Given the description of an element on the screen output the (x, y) to click on. 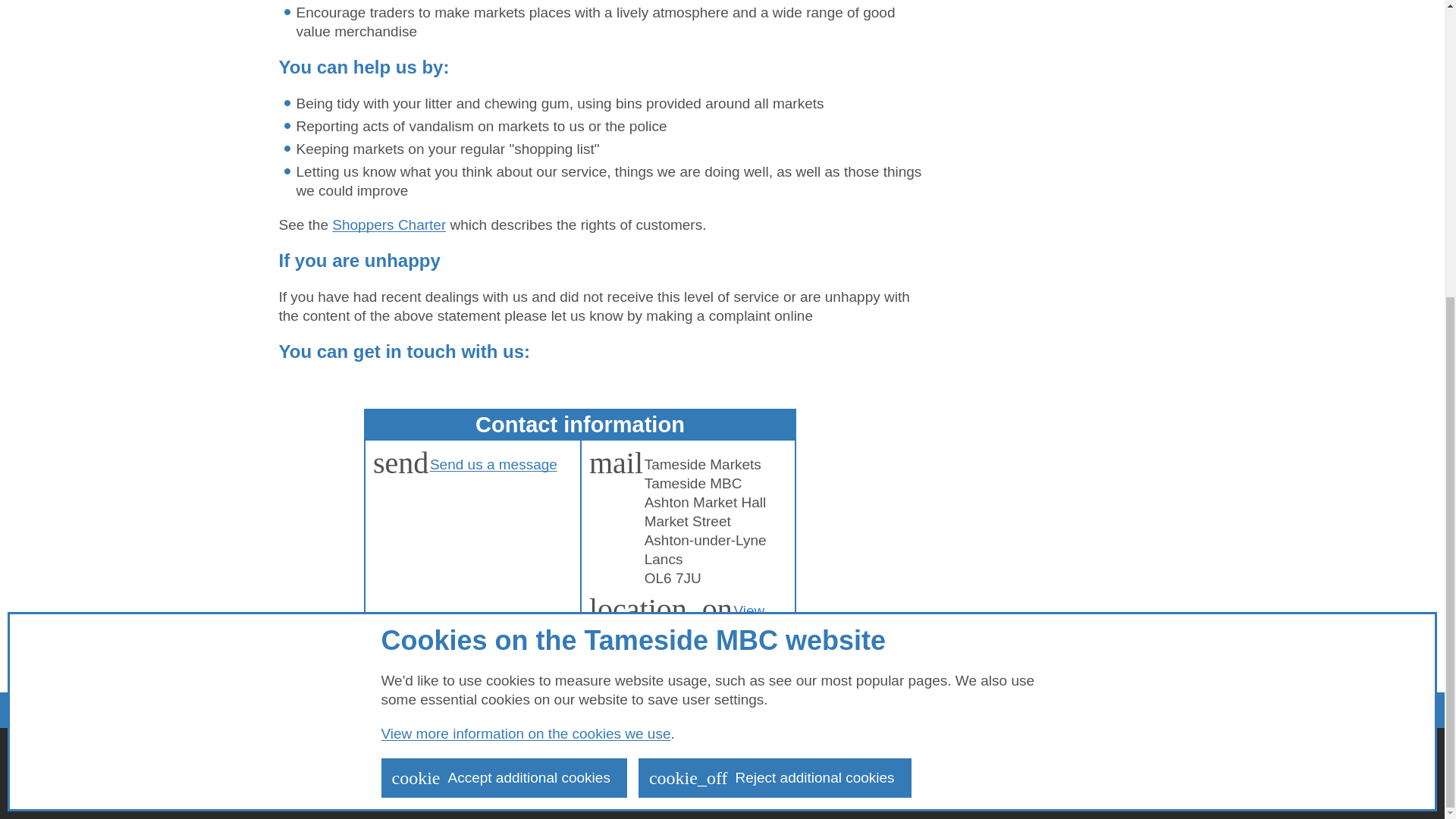
Send us a message (493, 464)
Shoppers Charter (388, 224)
